Given the description of an element on the screen output the (x, y) to click on. 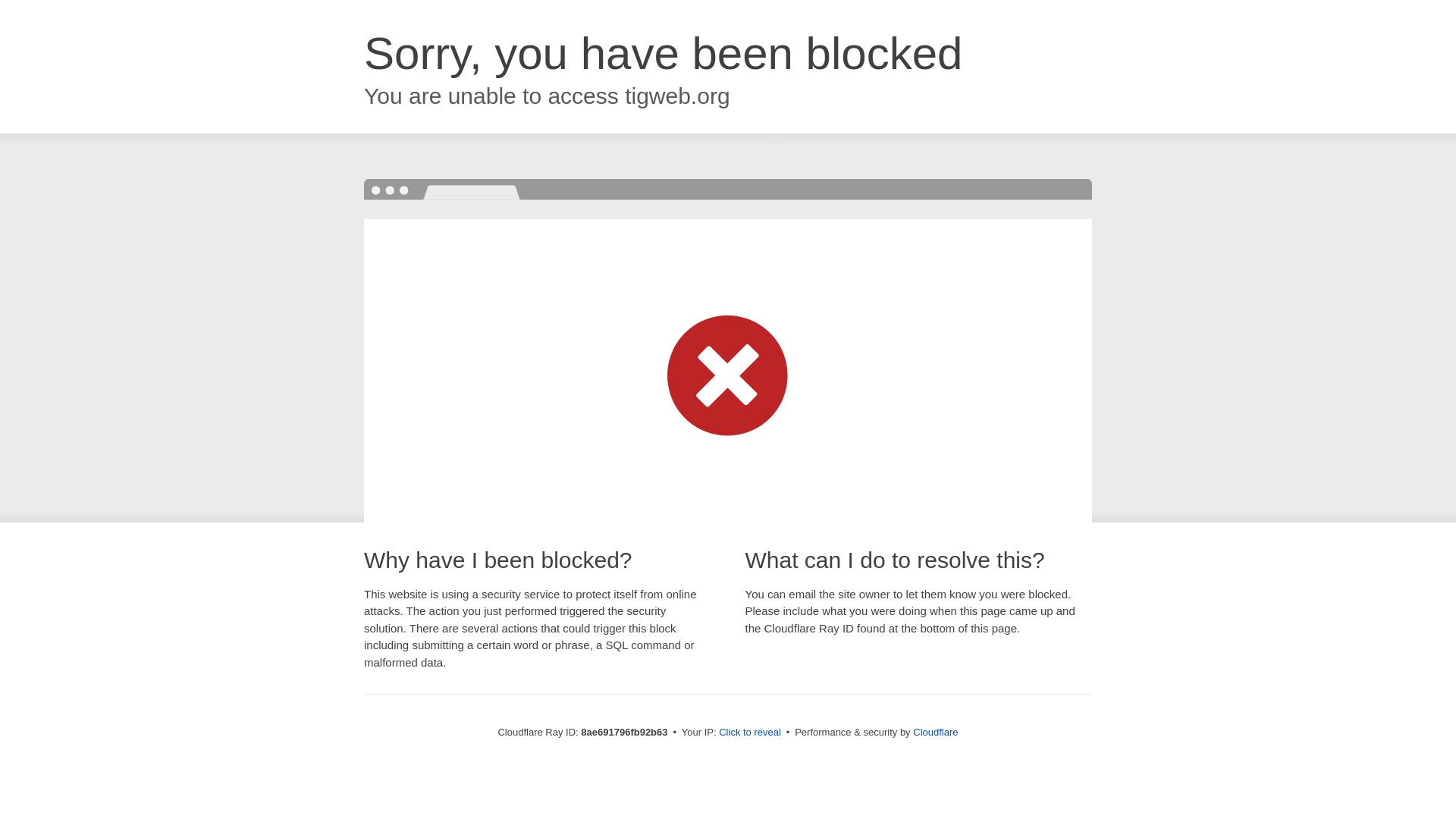
Cloudflare (935, 731)
Click to reveal (749, 732)
